Given the description of an element on the screen output the (x, y) to click on. 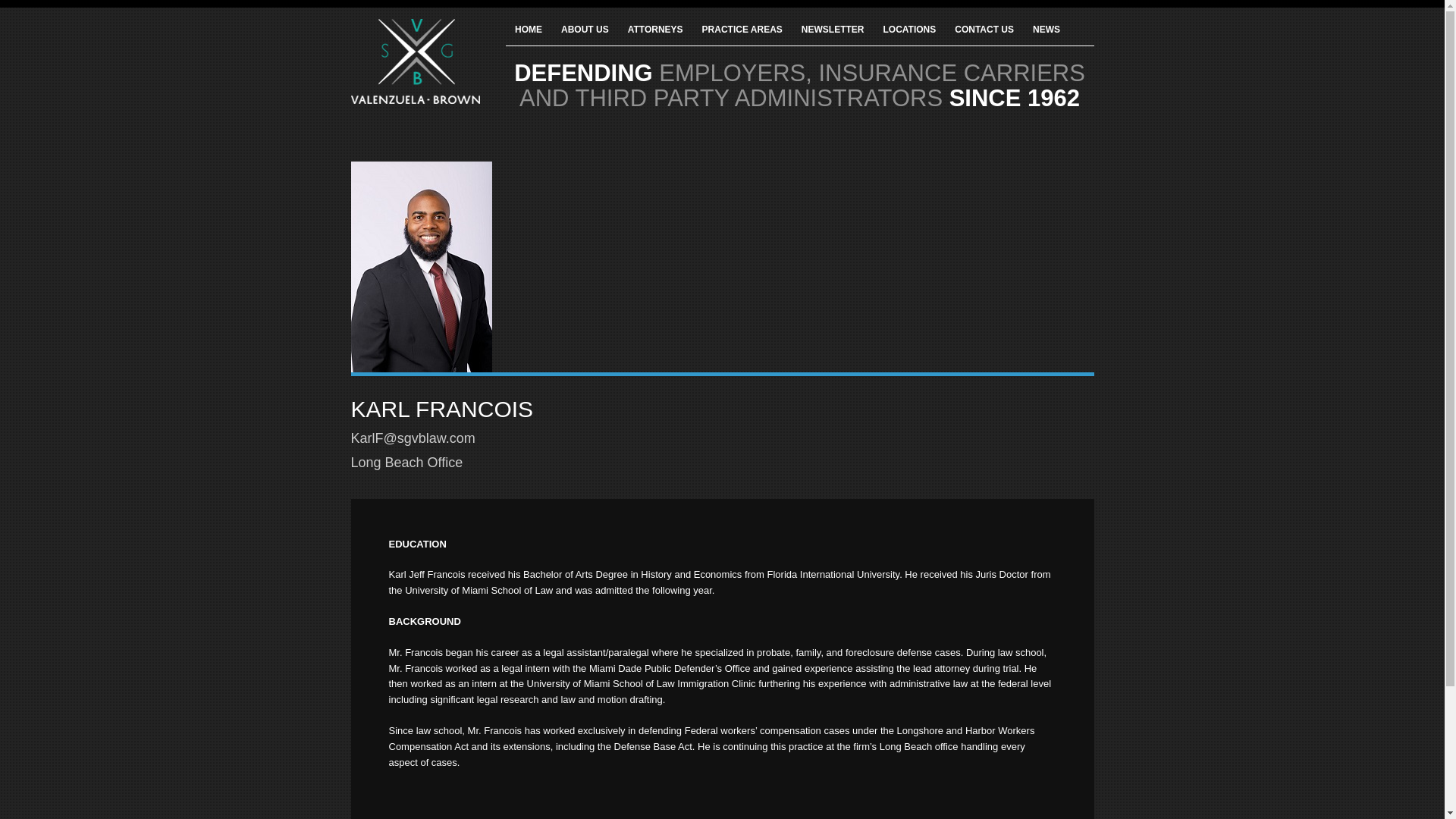
Long Beach Office (406, 462)
ABOUT US (594, 35)
CONTACT US (993, 35)
HOME (537, 35)
NEWS (1056, 35)
ATTORNEYS (664, 35)
NEWSLETTER (842, 35)
PRACTICE AREAS (751, 35)
LOCATIONS (918, 35)
